Given the description of an element on the screen output the (x, y) to click on. 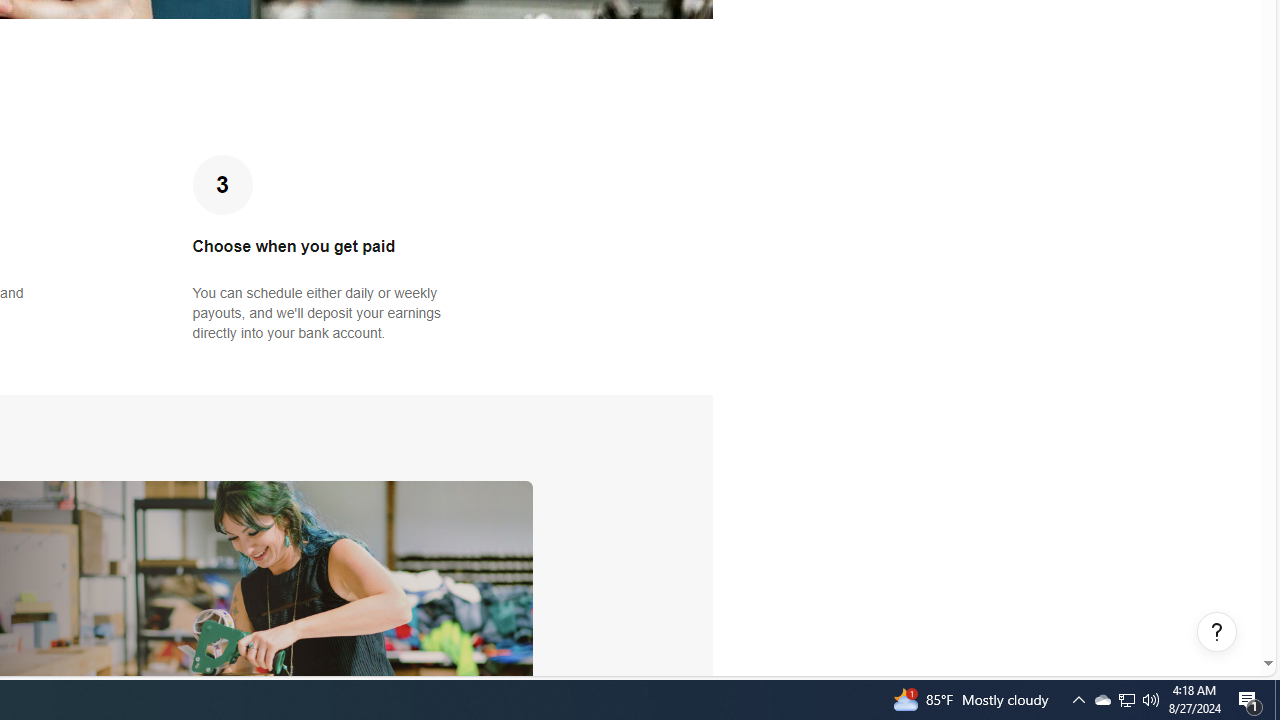
Help, opens dialogs (1217, 632)
